Given the description of an element on the screen output the (x, y) to click on. 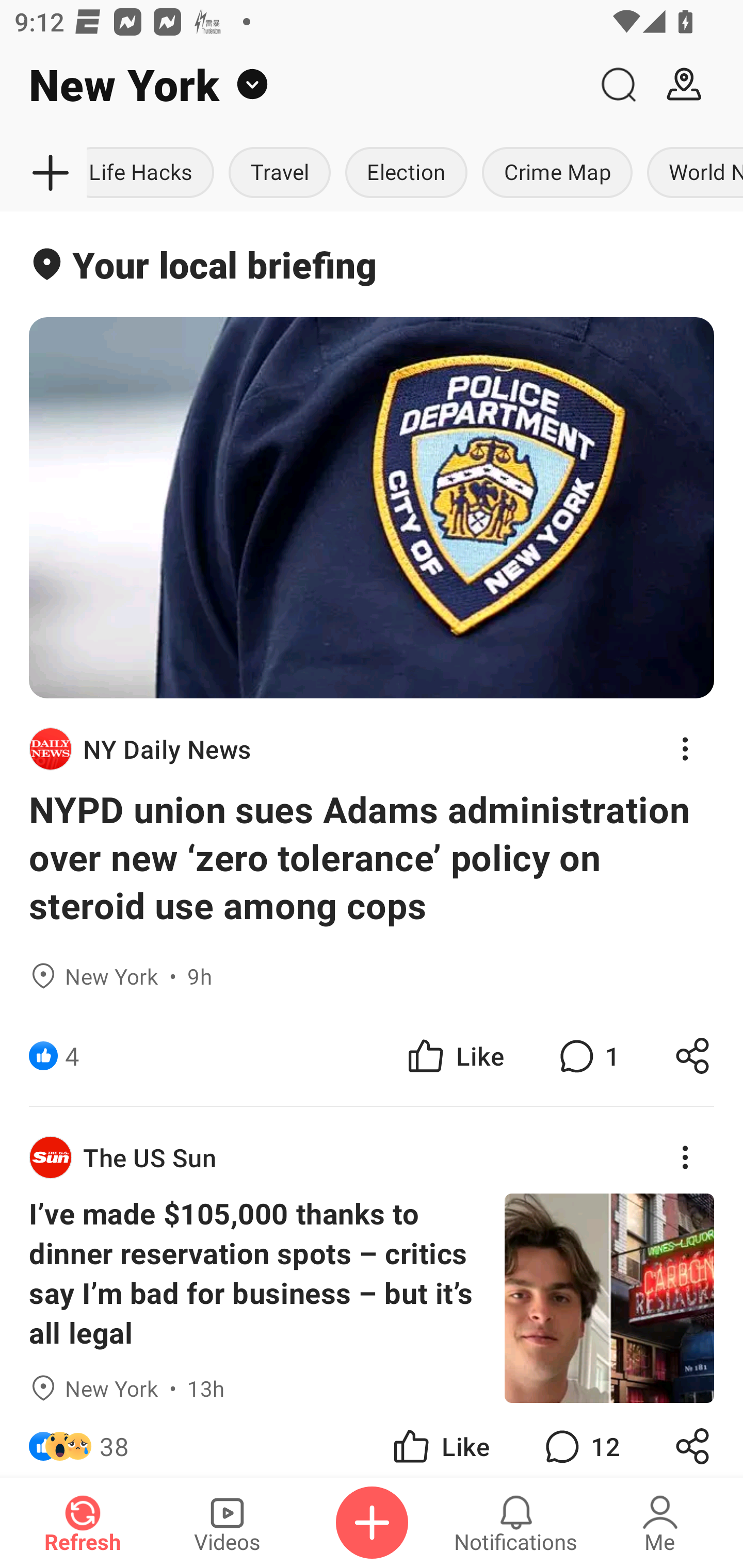
New York (292, 84)
Life Hacks (153, 172)
Travel (279, 172)
Election (406, 172)
Crime Map (556, 172)
World News (691, 172)
4 (72, 1055)
Like (454, 1055)
1 (587, 1055)
38 (114, 1440)
Like (439, 1440)
12 (579, 1440)
Videos (227, 1522)
Notifications (516, 1522)
Me (659, 1522)
